Given the description of an element on the screen output the (x, y) to click on. 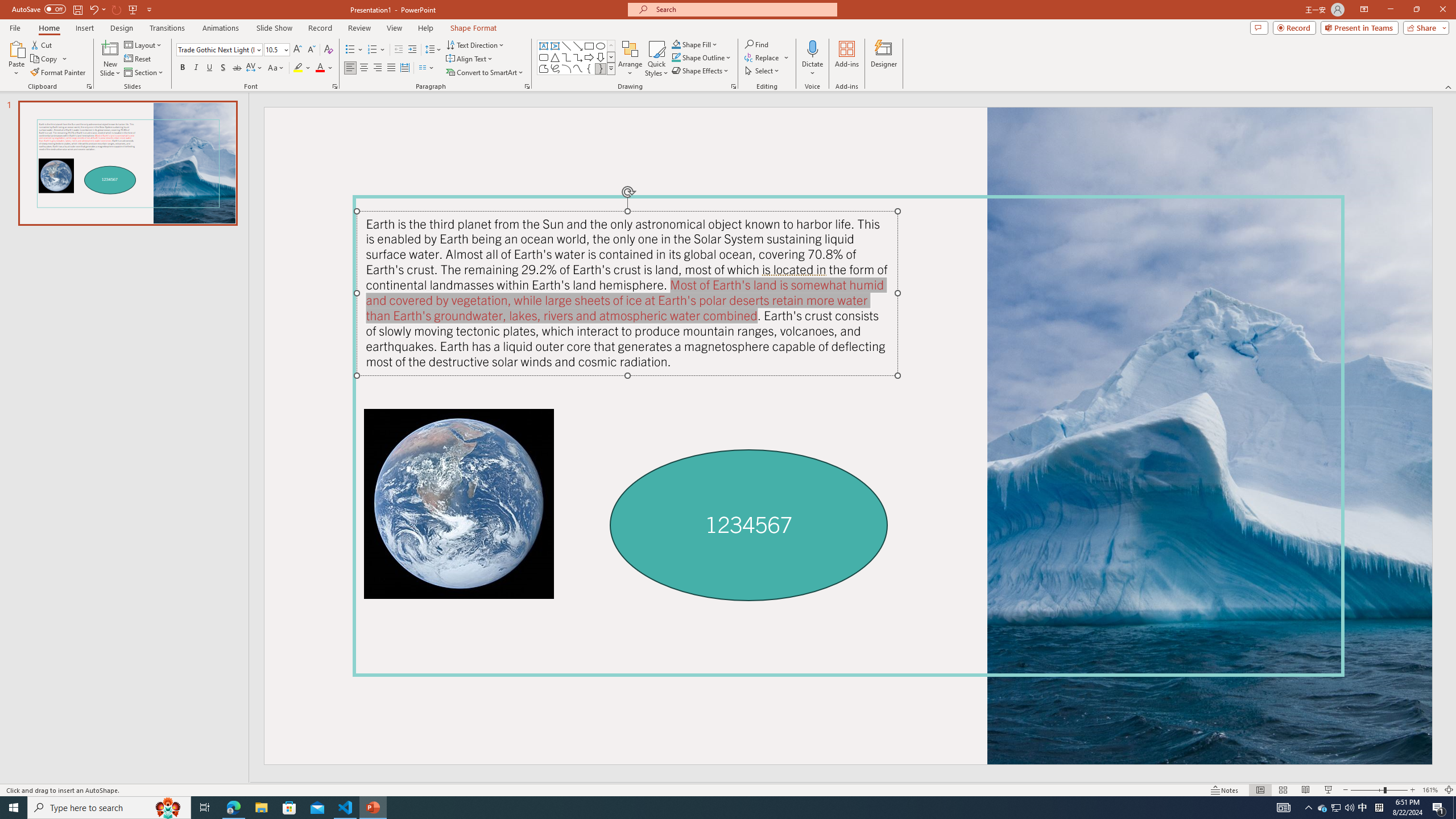
AutomationID: ShapesInsertGallery (576, 57)
Section (144, 72)
Shape Fill (694, 44)
Reset (138, 58)
Quick Styles (656, 58)
Decrease Font Size (310, 49)
